Given the description of an element on the screen output the (x, y) to click on. 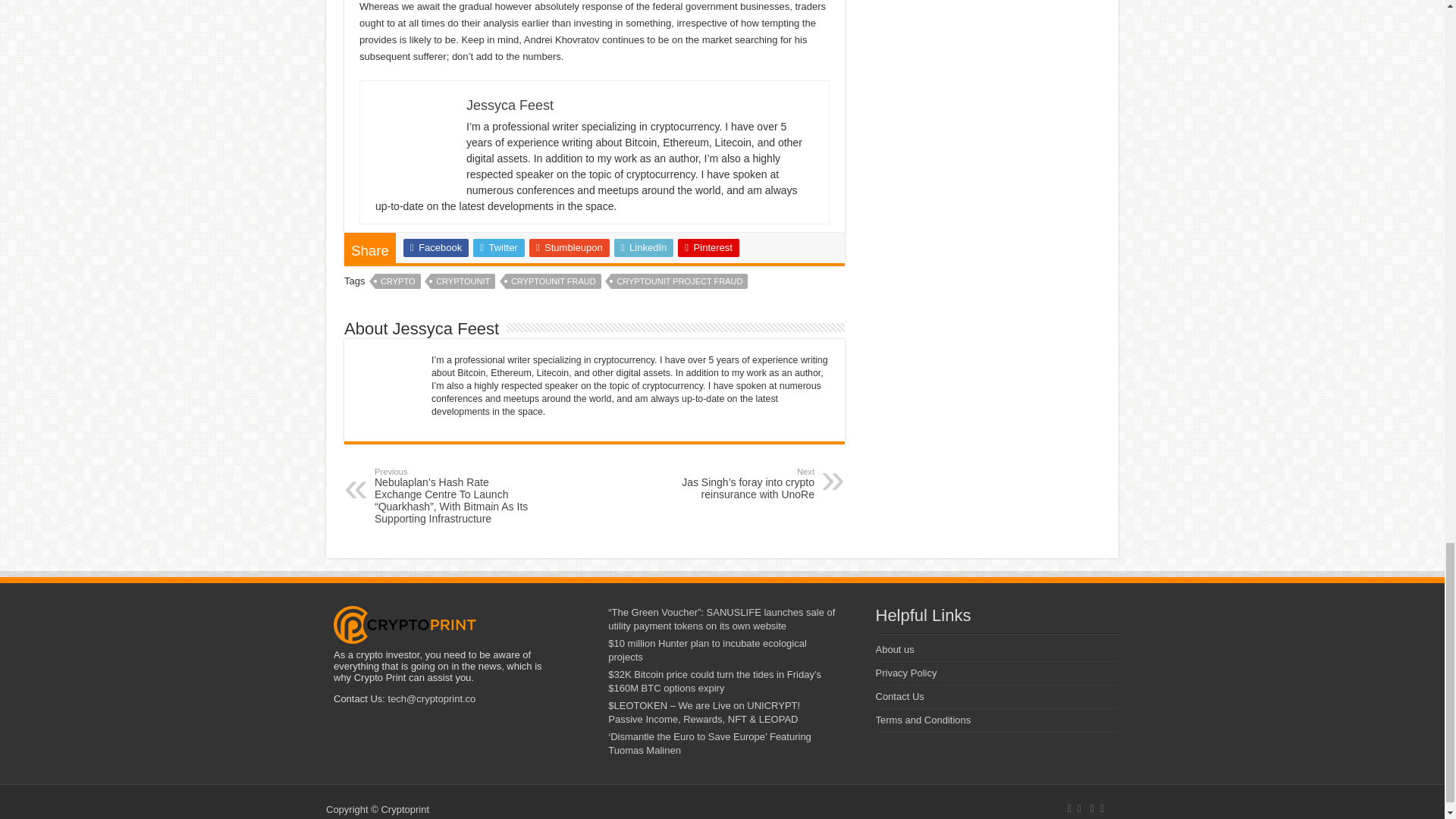
Twitter (498, 248)
Jessyca Feest (509, 105)
Facebook (435, 248)
Stumbleupon (569, 248)
LinkedIn (644, 248)
